Given the description of an element on the screen output the (x, y) to click on. 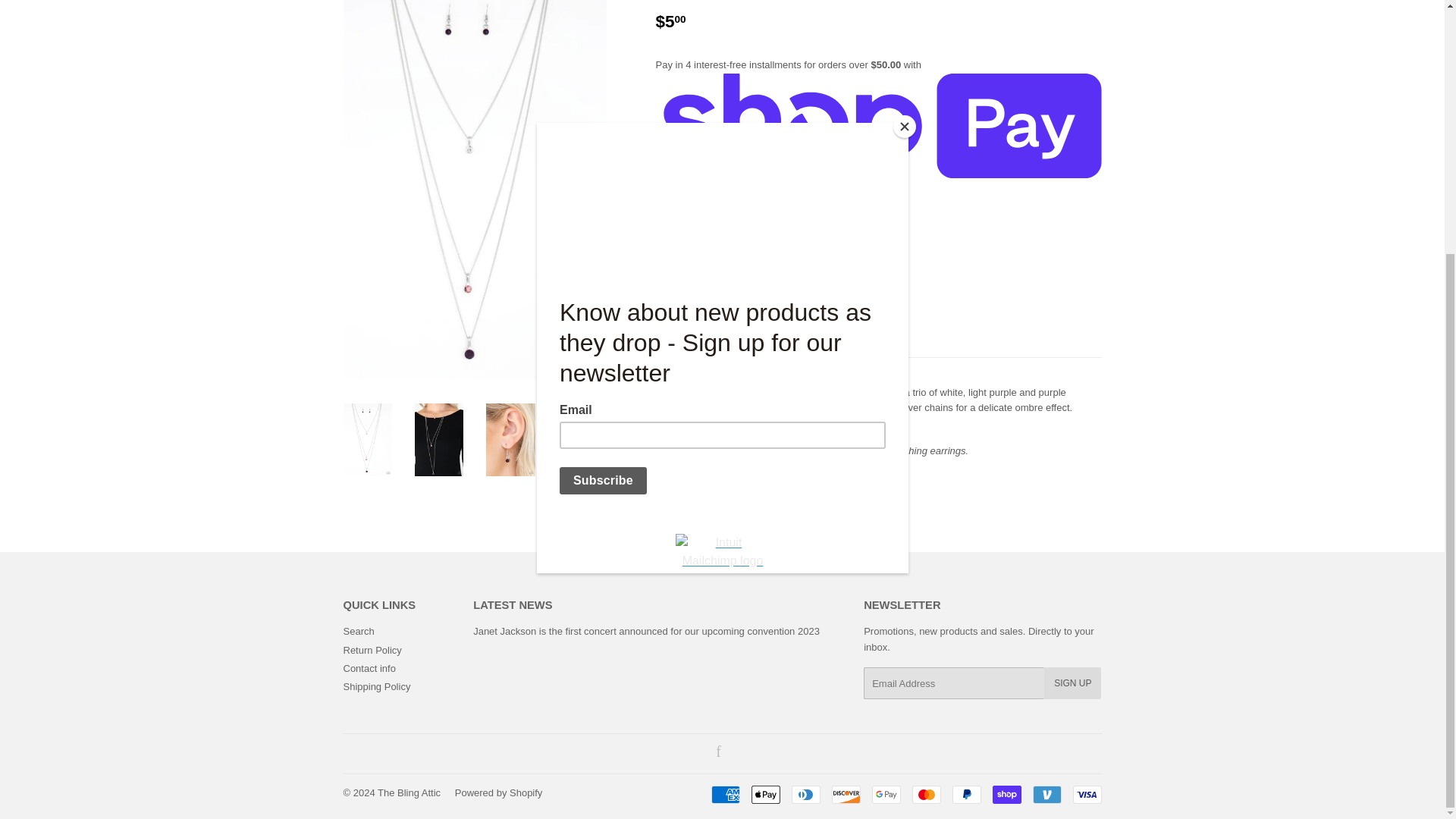
Tweet on Twitter (742, 490)
Shop Pay (1005, 794)
PayPal (966, 794)
Apple Pay (764, 794)
Mastercard (925, 794)
Share on Facebook (679, 490)
Venmo (1046, 794)
American Express (725, 794)
Pin on Pinterest (802, 490)
Visa (1085, 794)
Diners Club (806, 794)
Discover (845, 794)
Google Pay (886, 794)
